Given the description of an element on the screen output the (x, y) to click on. 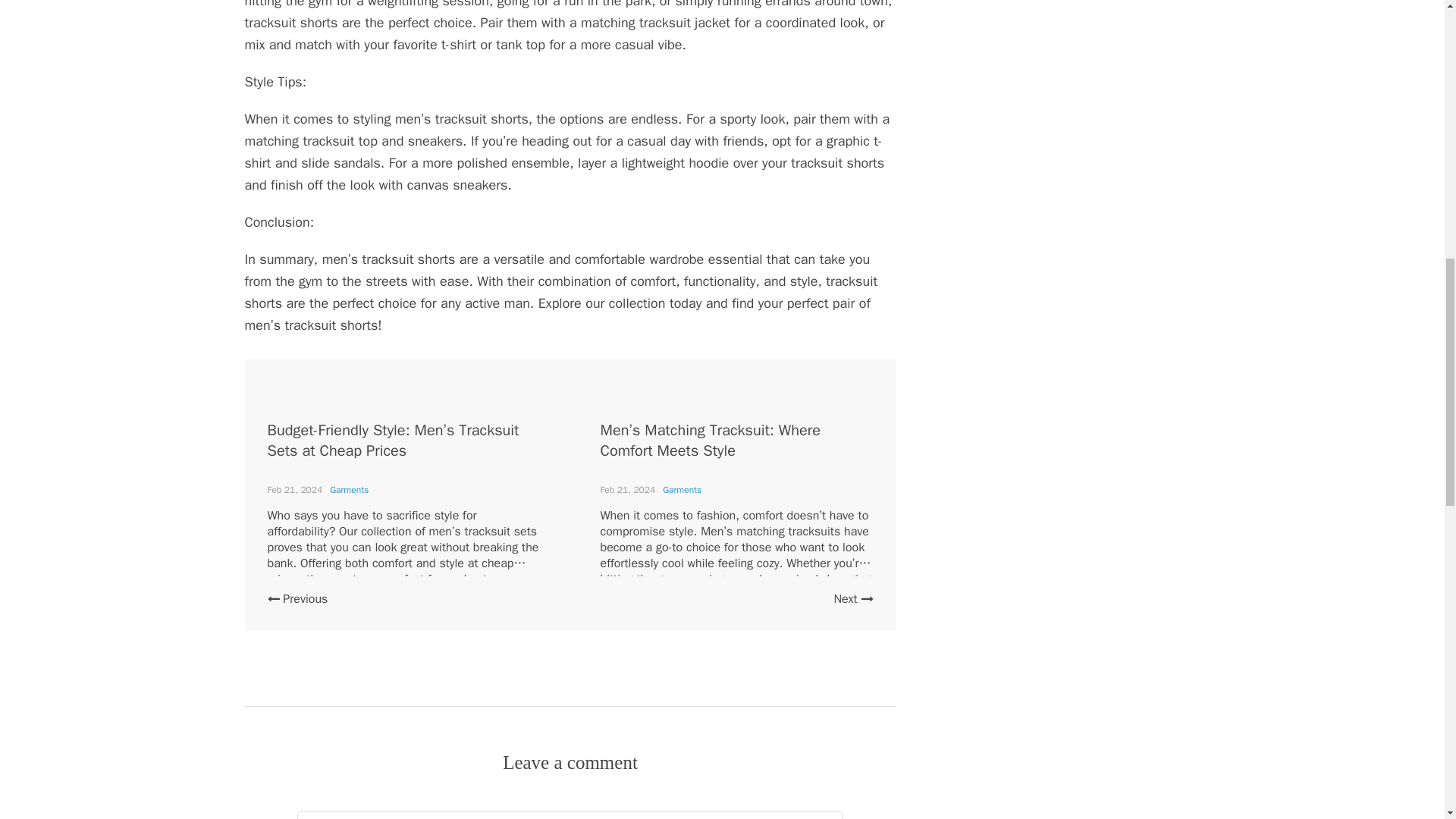
Previous (296, 598)
Garments (681, 490)
Garments (349, 490)
Next (852, 598)
